Given the description of an element on the screen output the (x, y) to click on. 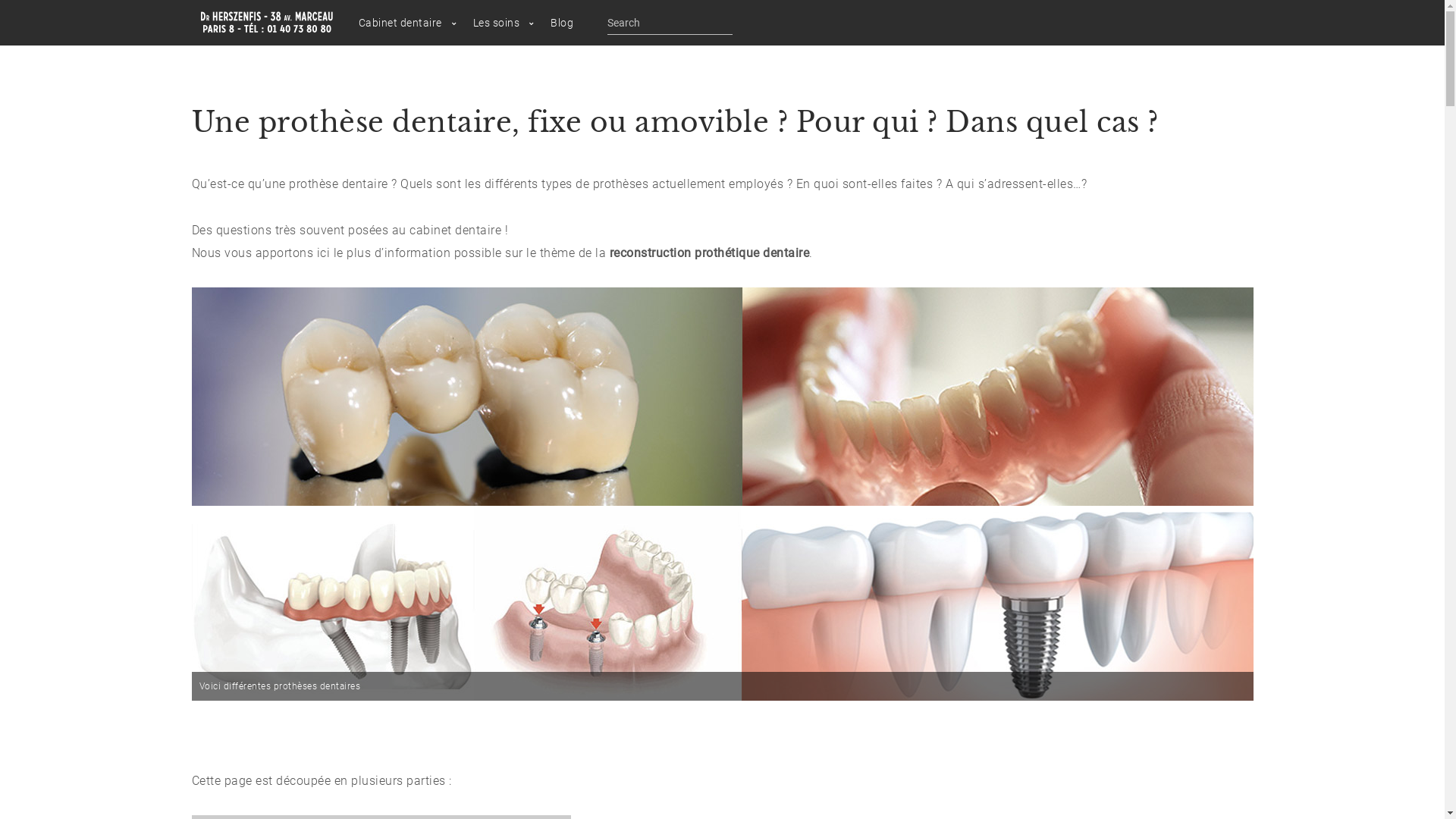
Cabinet dentaire Element type: text (399, 22)
Blog Element type: text (561, 22)
Les soins Element type: text (496, 22)
